Given the description of an element on the screen output the (x, y) to click on. 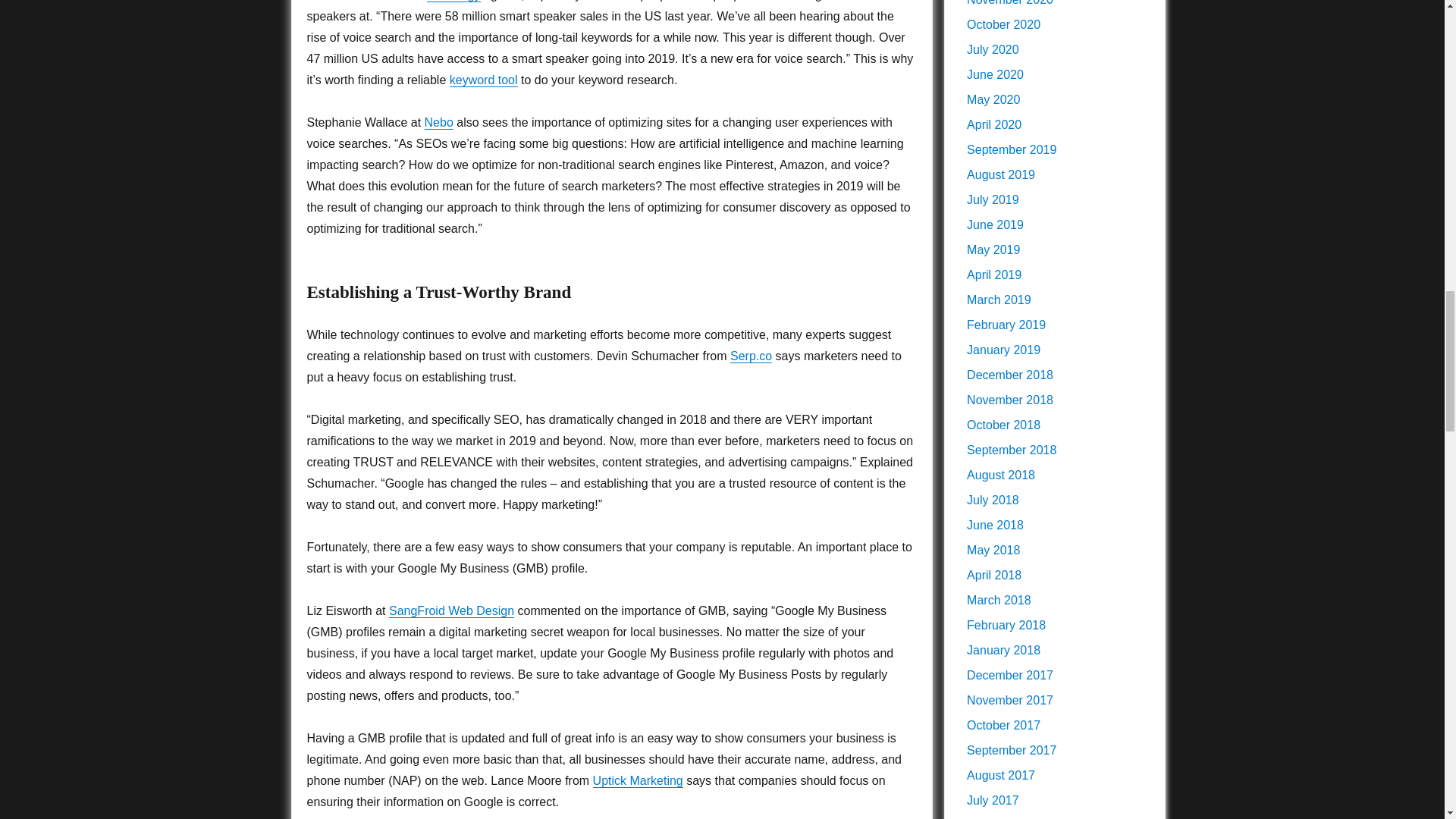
Webology (453, 0)
Uptick Marketing (637, 780)
Nebo (438, 122)
keyword tool (483, 79)
Serp.co (750, 355)
SangFroid Web Design (450, 610)
